Given the description of an element on the screen output the (x, y) to click on. 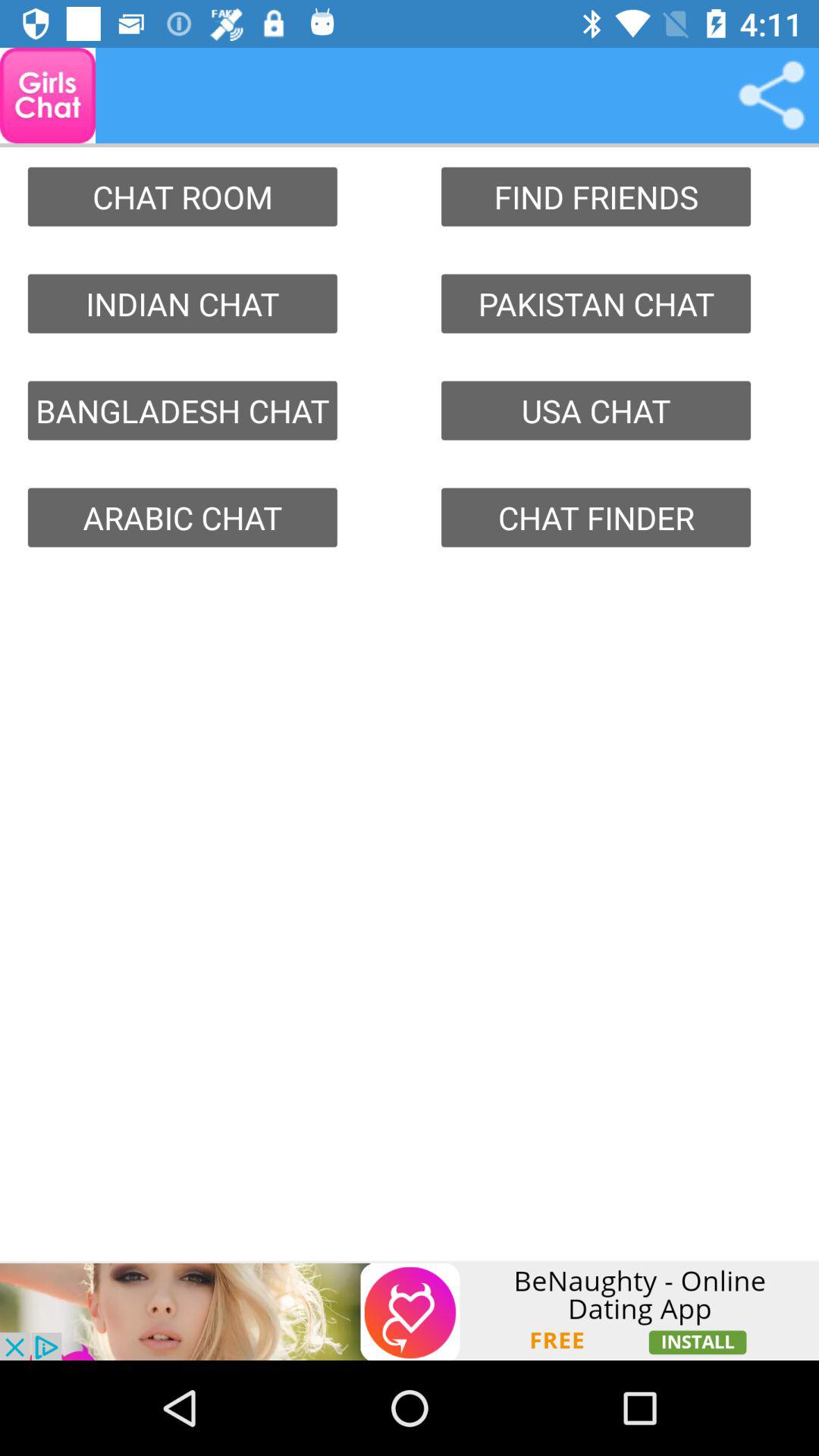
more option button (771, 95)
